Given the description of an element on the screen output the (x, y) to click on. 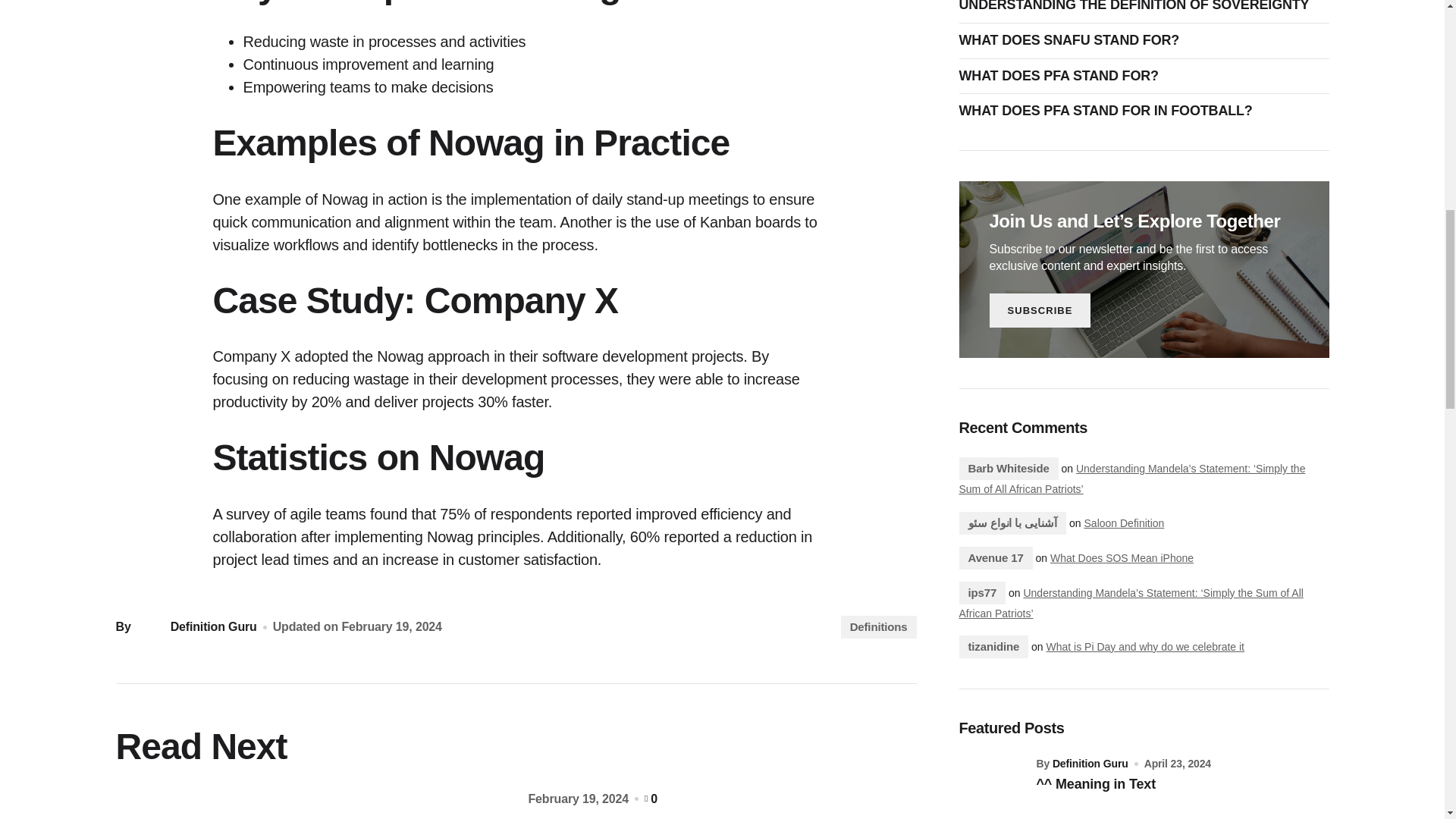
UNDERSTANDING THE DEFINITION OF SOVEREIGNTY (1137, 6)
WHAT DOES PFA STAND FOR IN FOOTBALL? (1109, 111)
WHAT DOES PFA STAND FOR? (1062, 76)
Definitions (879, 626)
WHAT DOES SNAFU STAND FOR? (1072, 40)
0 (651, 798)
Definition Guru (195, 626)
What does pertains mean? (309, 805)
